Given the description of an element on the screen output the (x, y) to click on. 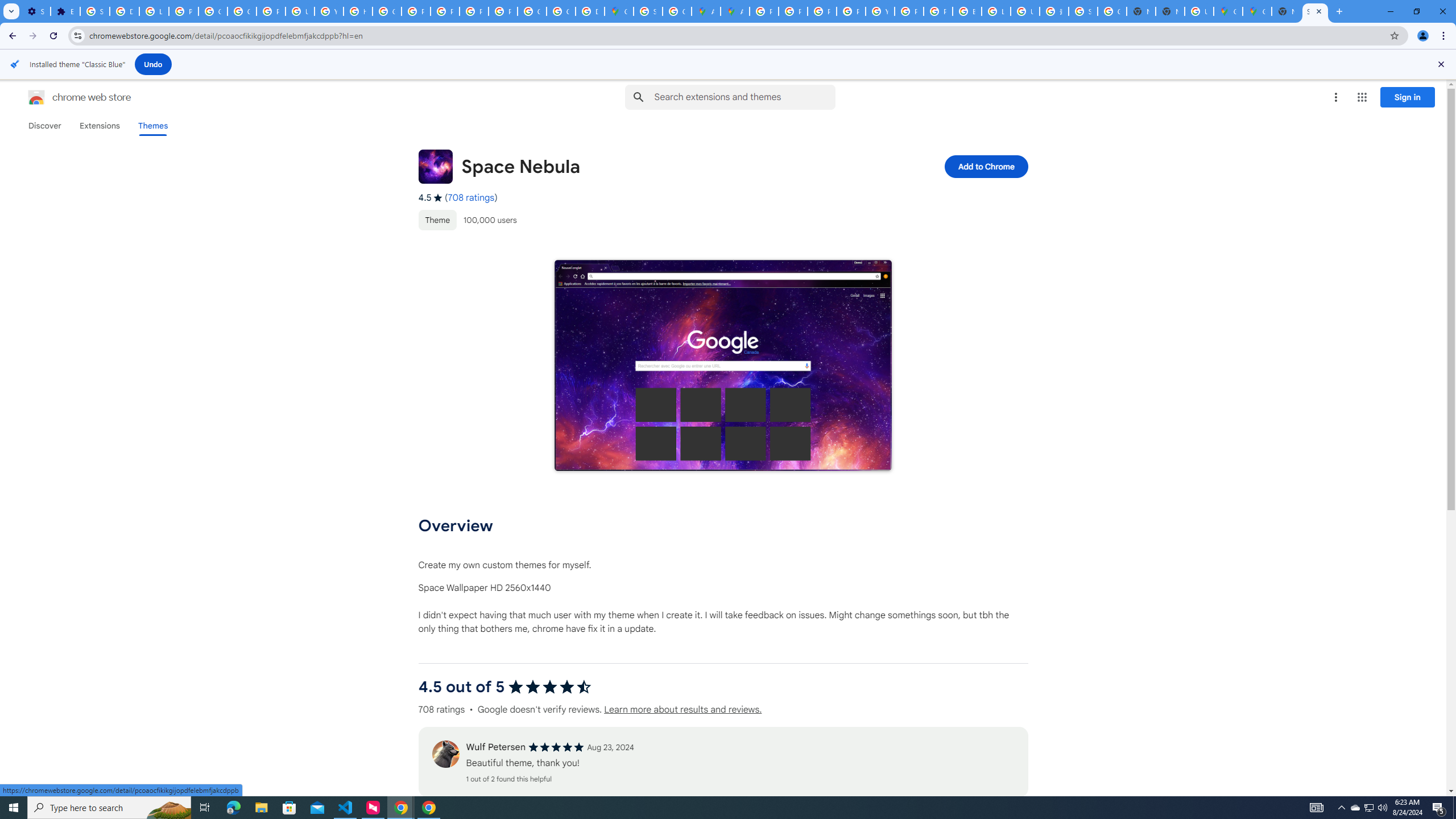
Delete photos & videos - Computer - Google Photos Help (124, 11)
Create your Google Account (677, 11)
Sign in - Google Accounts (1082, 11)
Item logo image for Space Nebula (434, 166)
708 ratings (470, 197)
Extensions (99, 125)
Google Maps (1227, 11)
YouTube (327, 11)
More options menu (1335, 96)
